Given the description of an element on the screen output the (x, y) to click on. 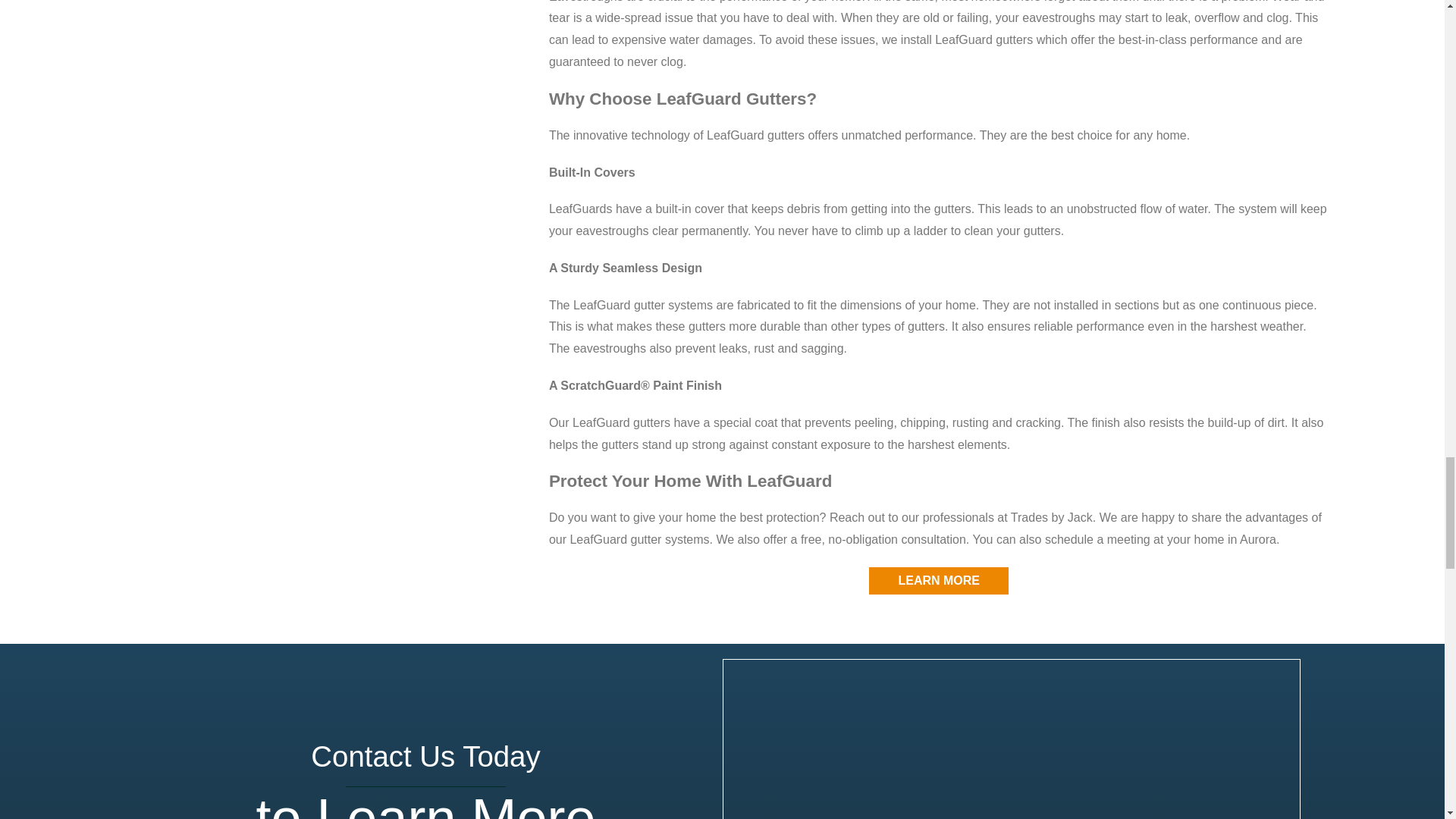
LEARN MORE (938, 580)
